Given the description of an element on the screen output the (x, y) to click on. 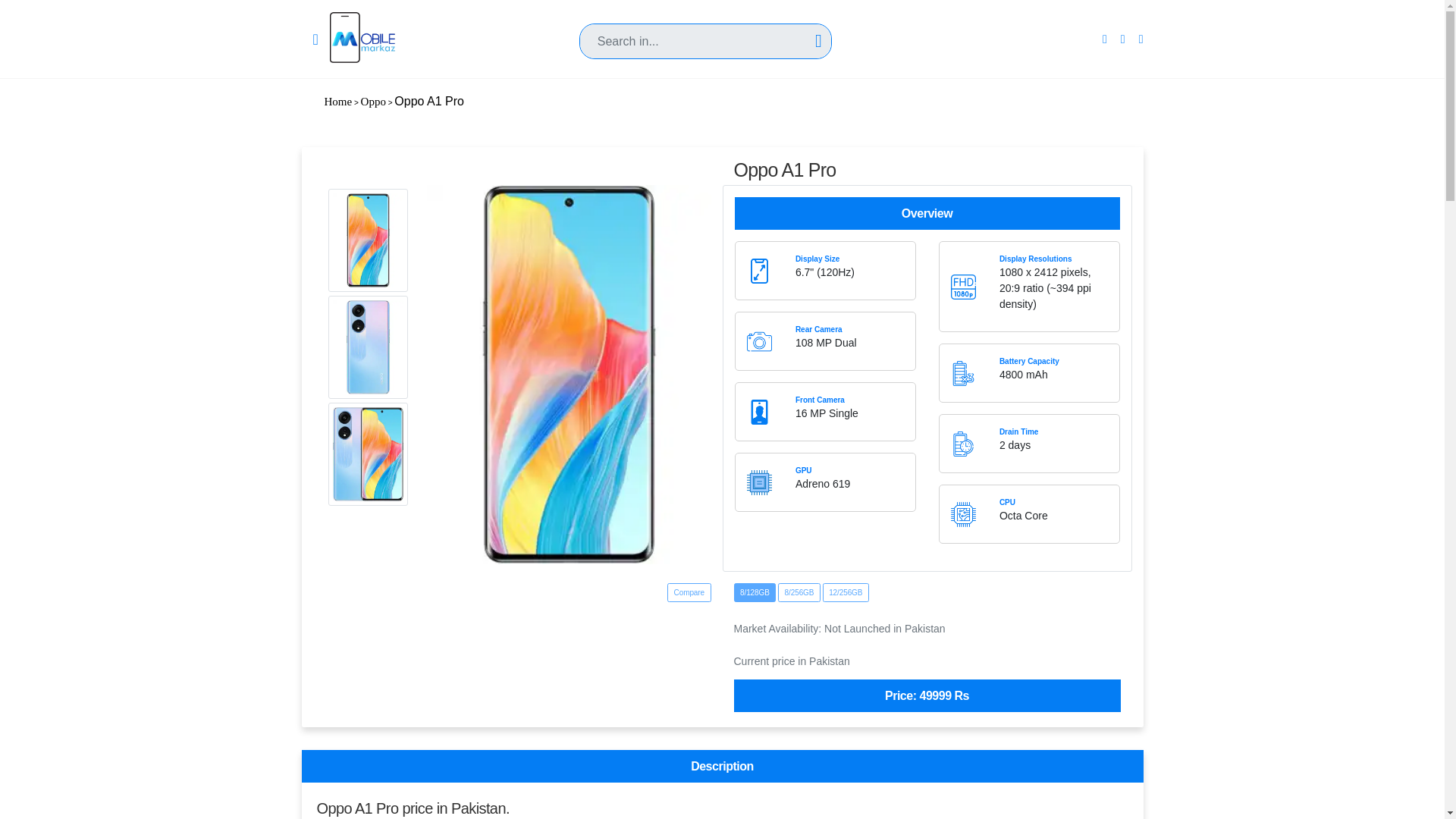
Compare (688, 592)
Toggle mobile menu (315, 38)
Search (705, 20)
Home (338, 101)
Oppo (373, 101)
